Given the description of an element on the screen output the (x, y) to click on. 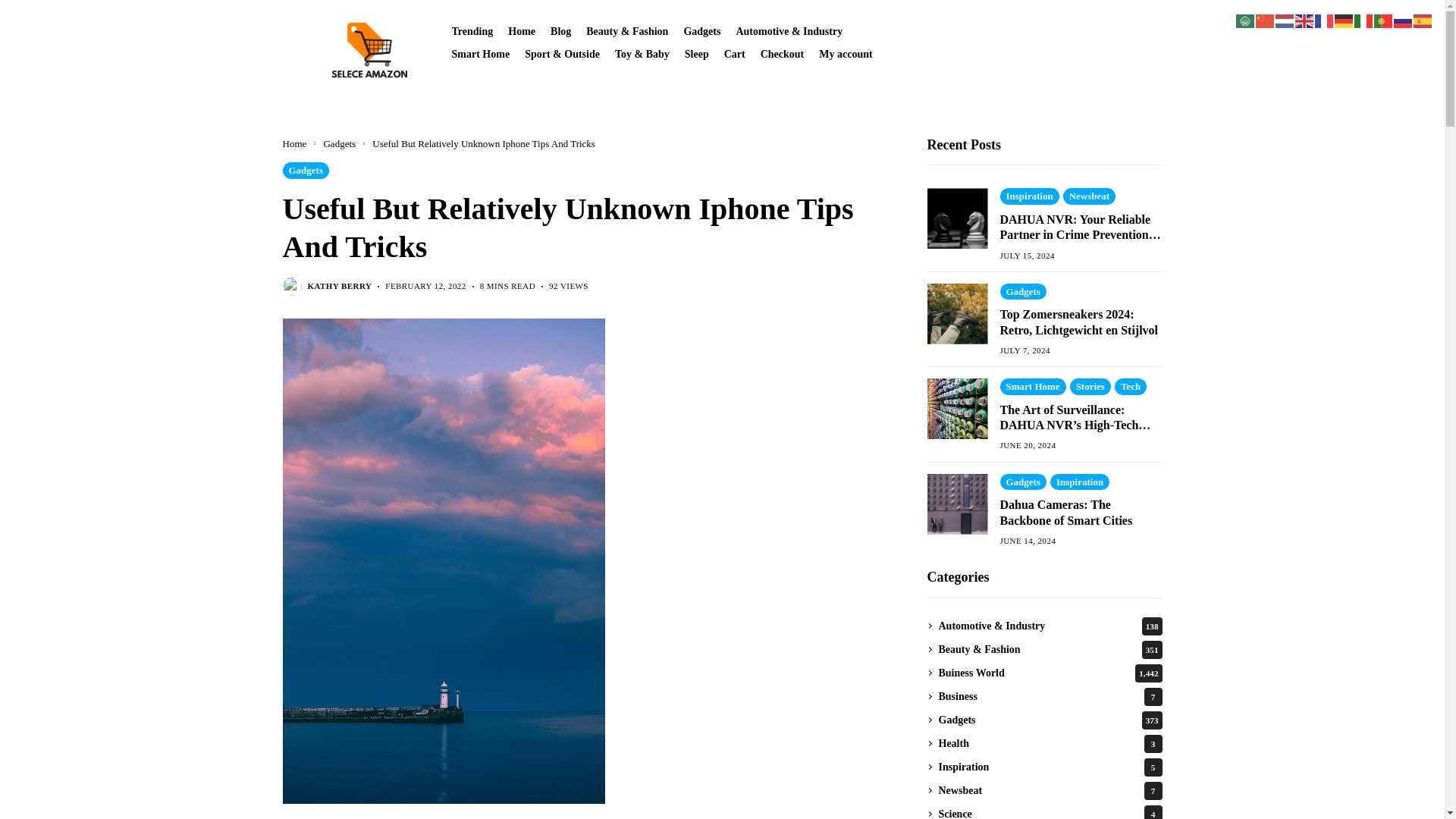
Smart Home (481, 53)
Cart (734, 53)
Sleep (696, 53)
Trending (472, 30)
Posts by Kathy Berry (339, 286)
Gadgets (701, 30)
Blog (560, 30)
My account (845, 53)
Checkout (782, 53)
Home (521, 30)
